Given the description of an element on the screen output the (x, y) to click on. 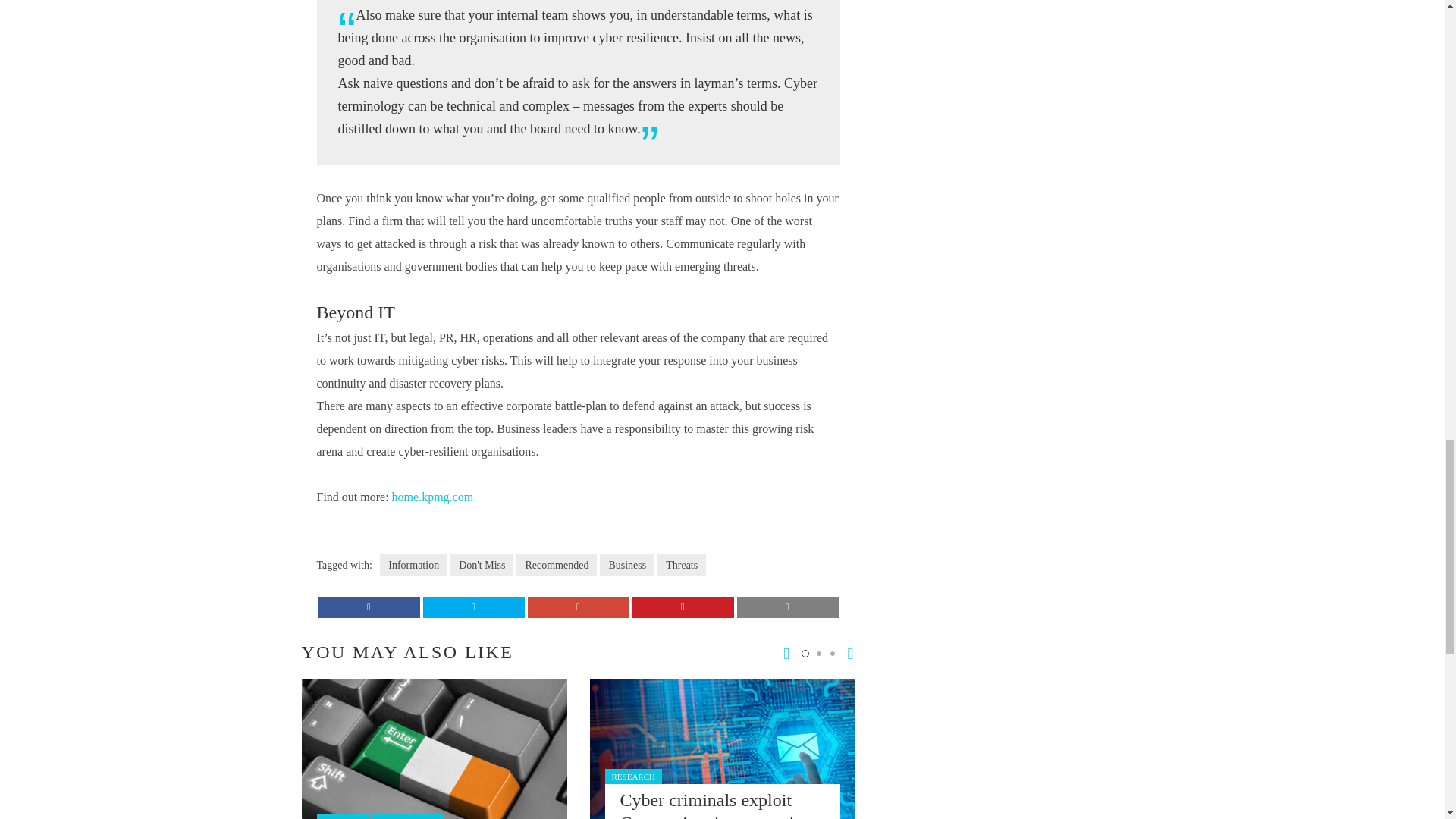
Cyber criminals exploit Coronavirus home-work shift (708, 804)
